Given the description of an element on the screen output the (x, y) to click on. 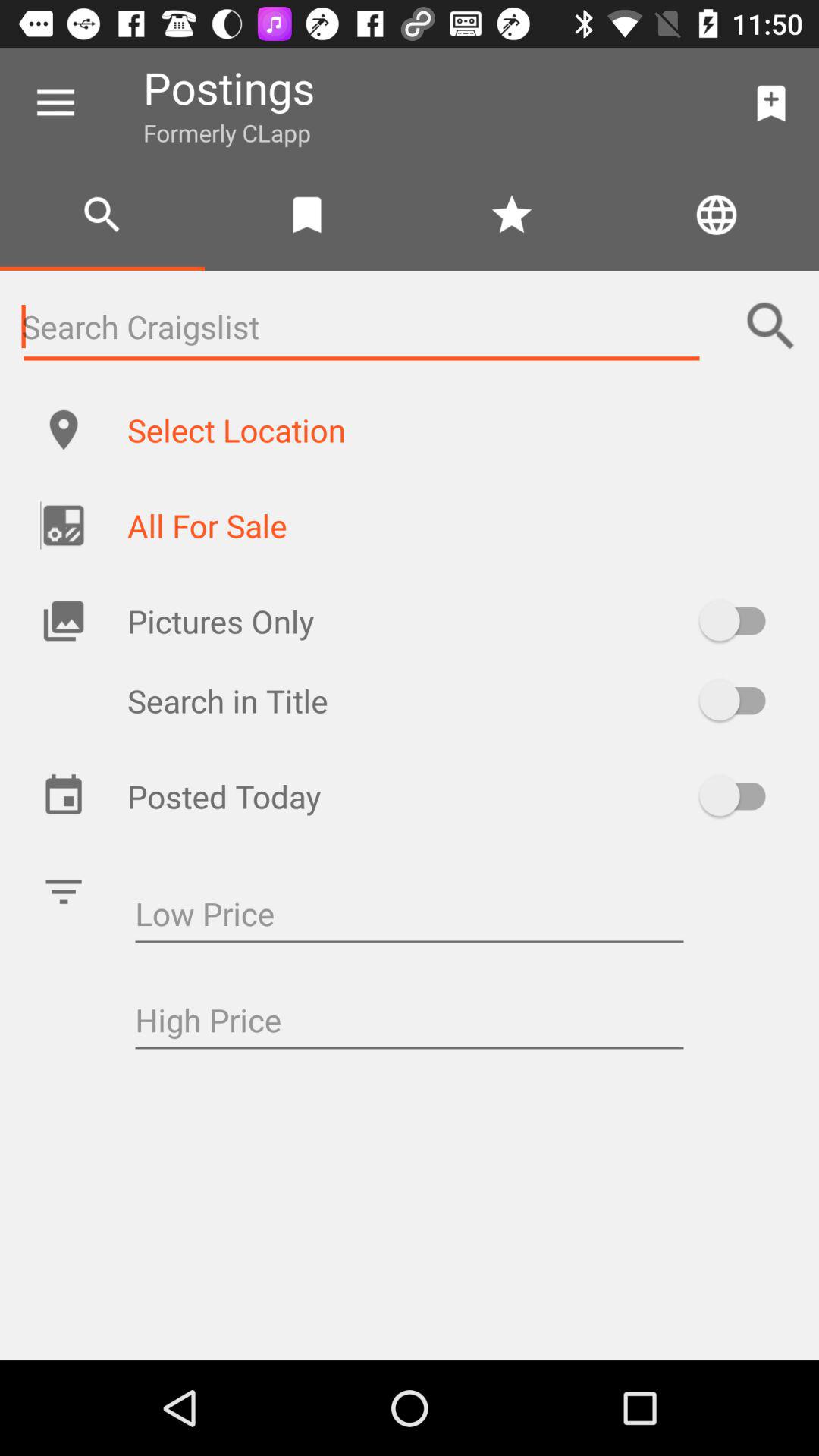
toggle pictures only (739, 620)
